Given the description of an element on the screen output the (x, y) to click on. 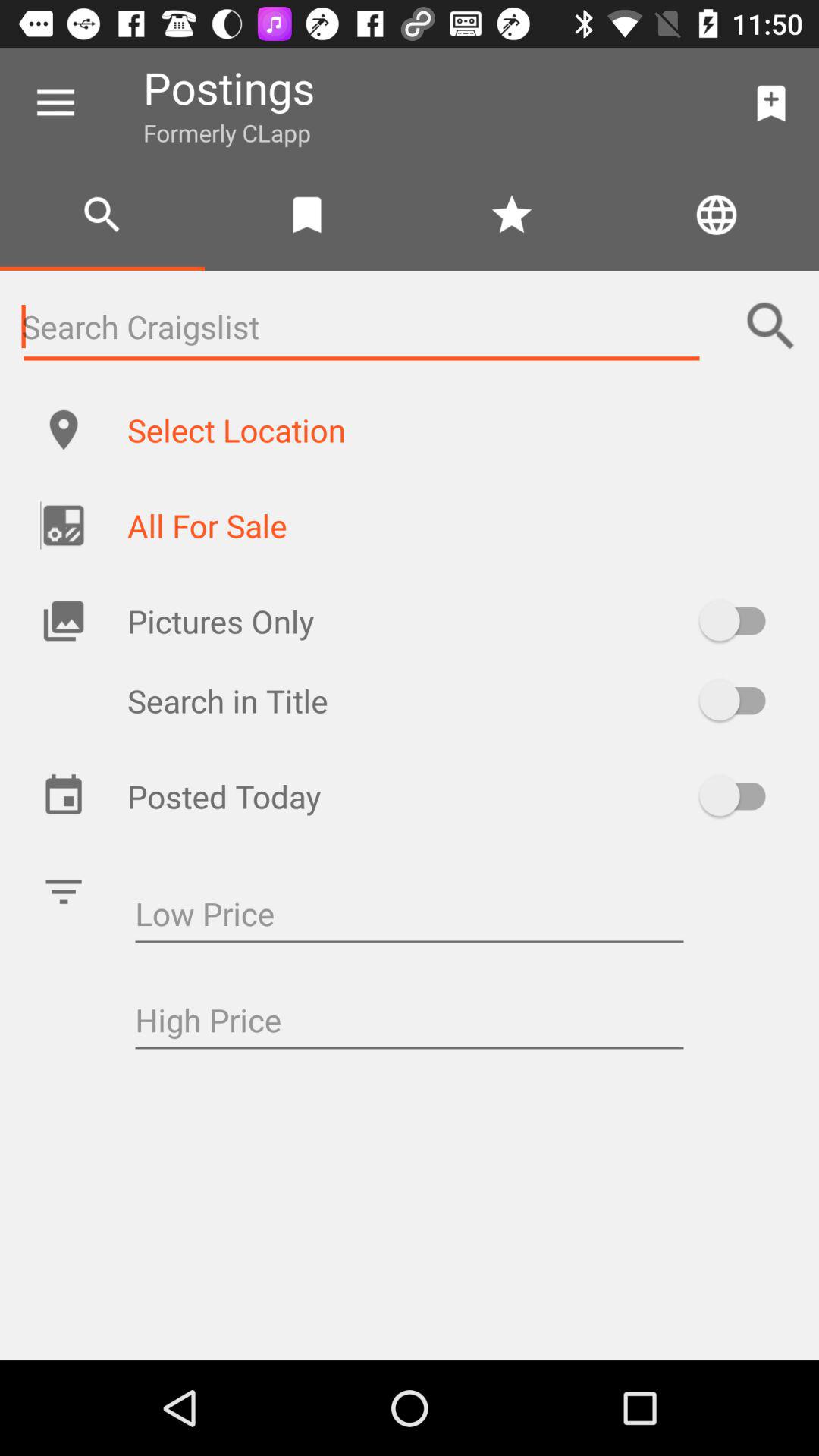
toggle pictures only (739, 620)
